Given the description of an element on the screen output the (x, y) to click on. 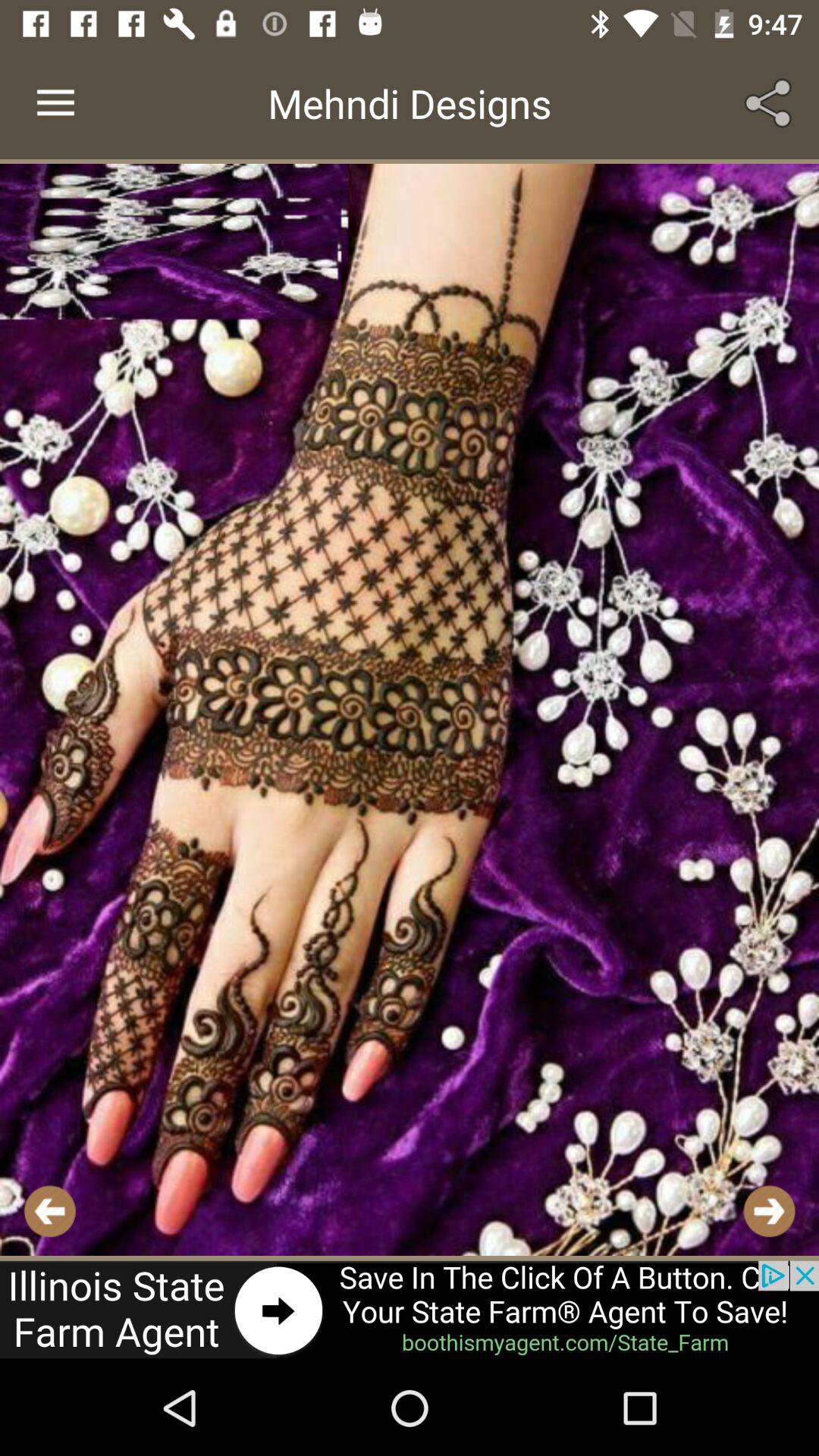
advertisement (409, 1310)
